Given the description of an element on the screen output the (x, y) to click on. 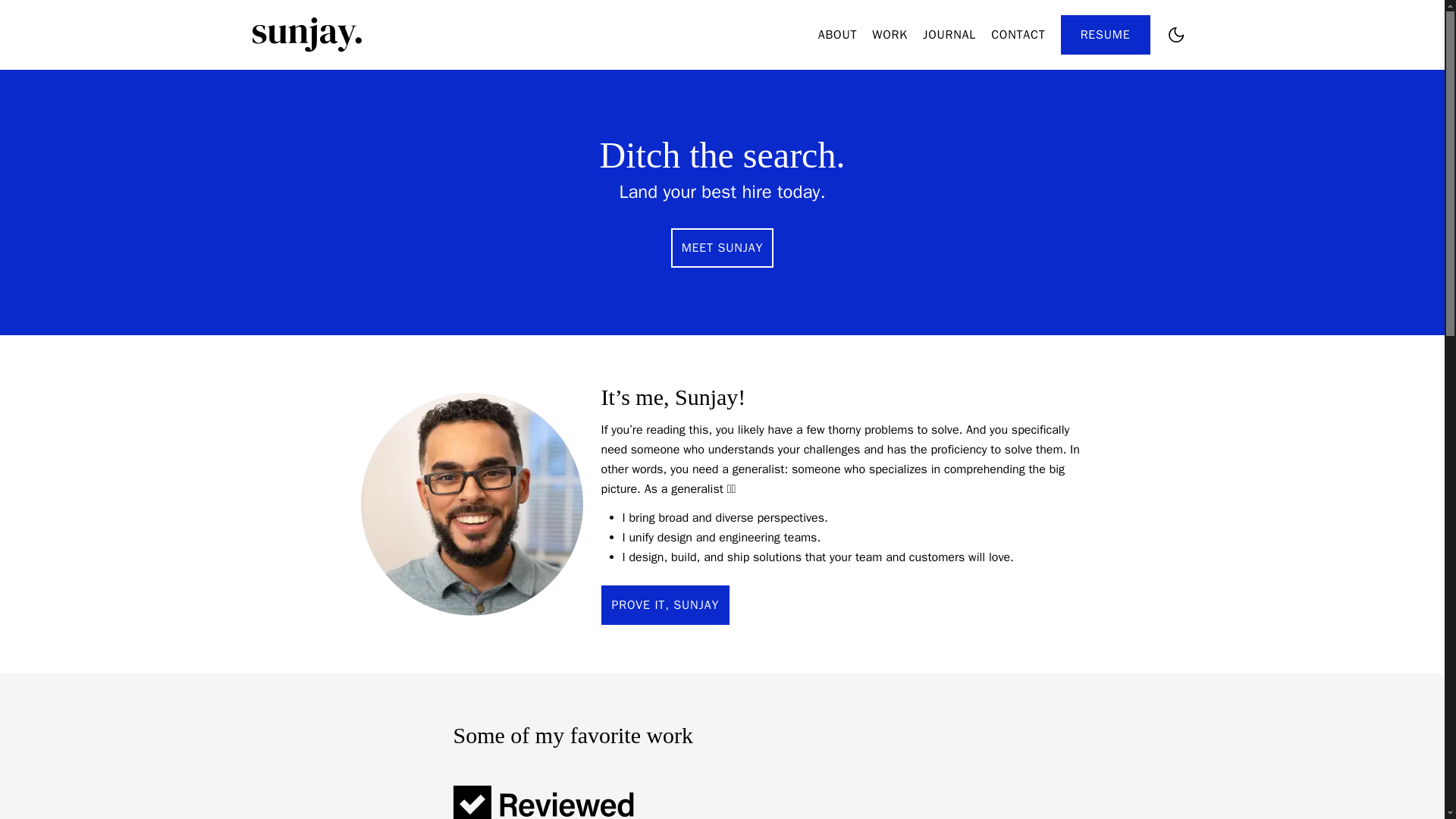
CONTACT (1018, 34)
WORK (889, 34)
MEET SUNJAY (722, 247)
RESUME (1105, 34)
PROVE IT, SUNJAY (664, 604)
JOURNAL (949, 34)
ABOUT (837, 34)
